Given the description of an element on the screen output the (x, y) to click on. 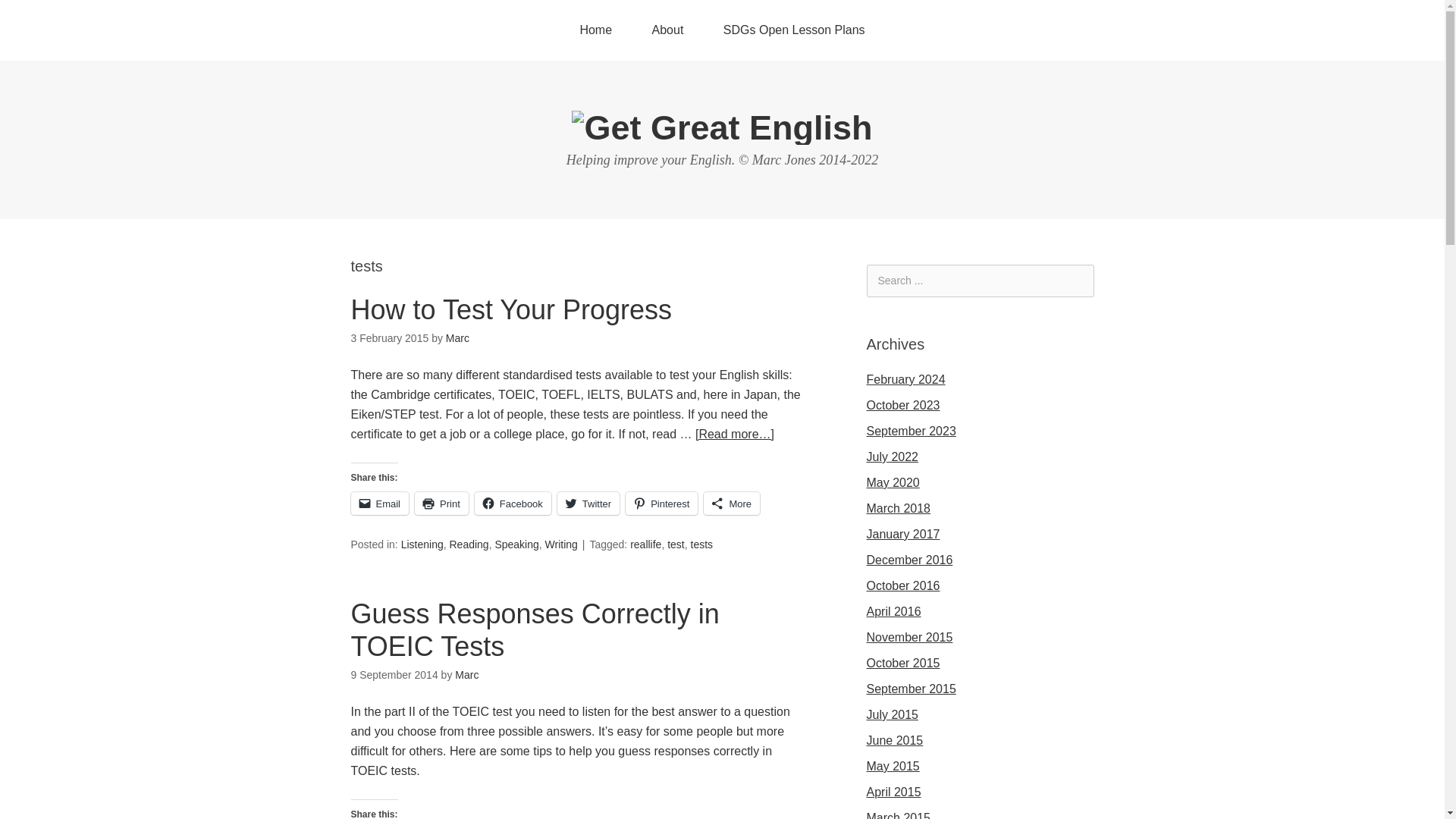
Speaking (516, 544)
How to Test Your Progress (510, 309)
Click to share on Twitter (588, 503)
Print (441, 503)
Marc (456, 337)
Facebook (512, 503)
Writing (561, 544)
Pinterest (661, 503)
Click to email a link to a friend (379, 503)
Email (379, 503)
Home (595, 30)
SDGs Open Lesson Plans (793, 30)
Posts by Marc (466, 674)
Tuesday, September 9, 2014, 2:31 pm (394, 674)
test (675, 544)
